Given the description of an element on the screen output the (x, y) to click on. 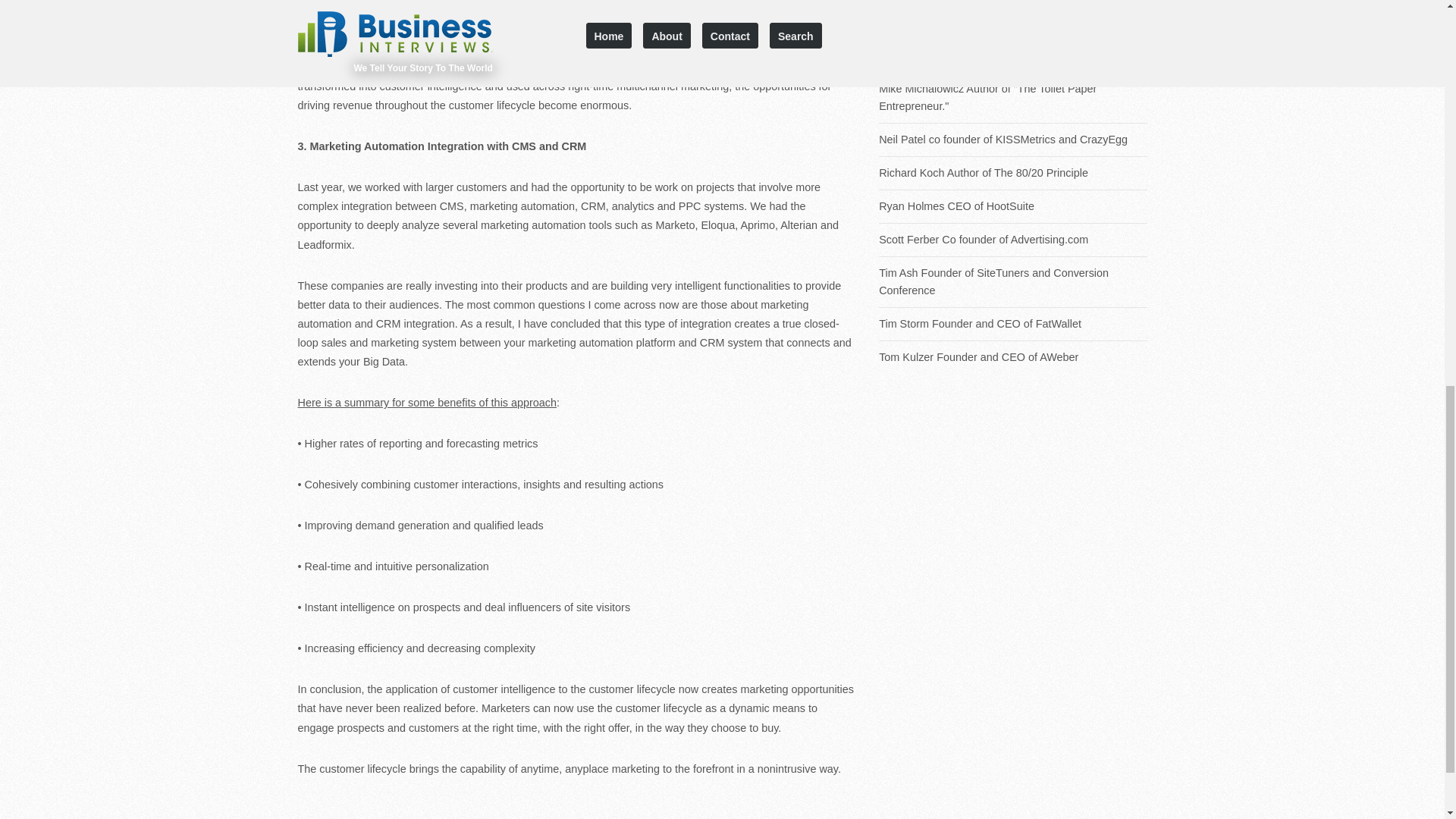
Neil Patel co founder of KISSMetrics and CrazyEgg (1013, 139)
Tom Kulzer Founder and CEO of AWeber (1013, 357)
Mike Michalowicz Author of "The Toilet Paper Entrepreneur." (1013, 97)
Tim Ash Founder of SiteTuners and Conversion Conference (1013, 281)
Scott Ferber Co founder of Advertising.com (1013, 239)
Kris Jones Founded Pepperjam and operates KBJ Capital (1013, 6)
Marc Ostrofsky Business.com and Author of Get Rich Click (1013, 45)
Ryan Holmes CEO of HootSuite (1013, 206)
Tim Storm Founder and CEO of FatWallet (1013, 323)
